Given the description of an element on the screen output the (x, y) to click on. 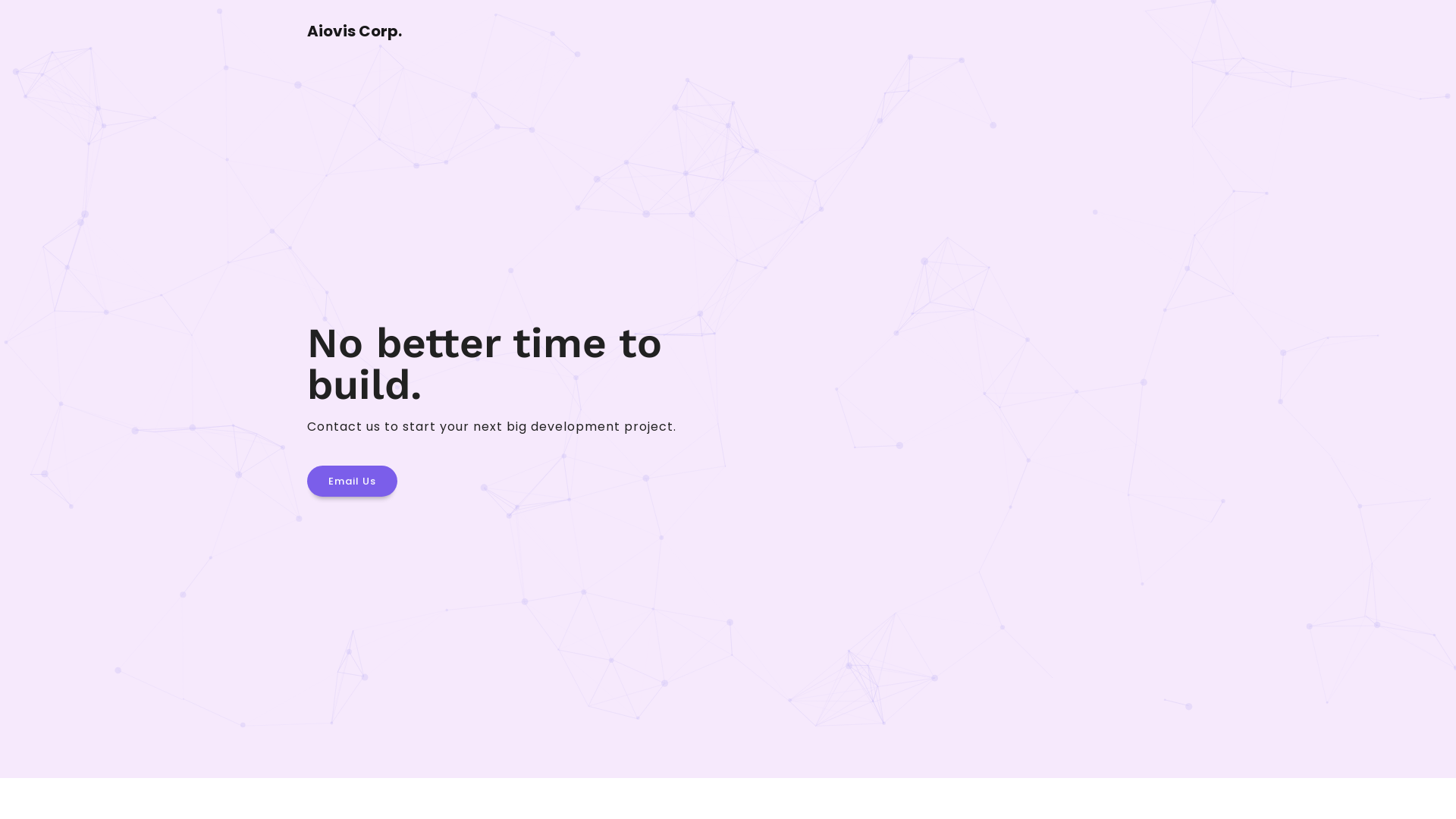
Email Us Element type: text (352, 480)
Aiovis Corp. Element type: text (354, 32)
